Given the description of an element on the screen output the (x, y) to click on. 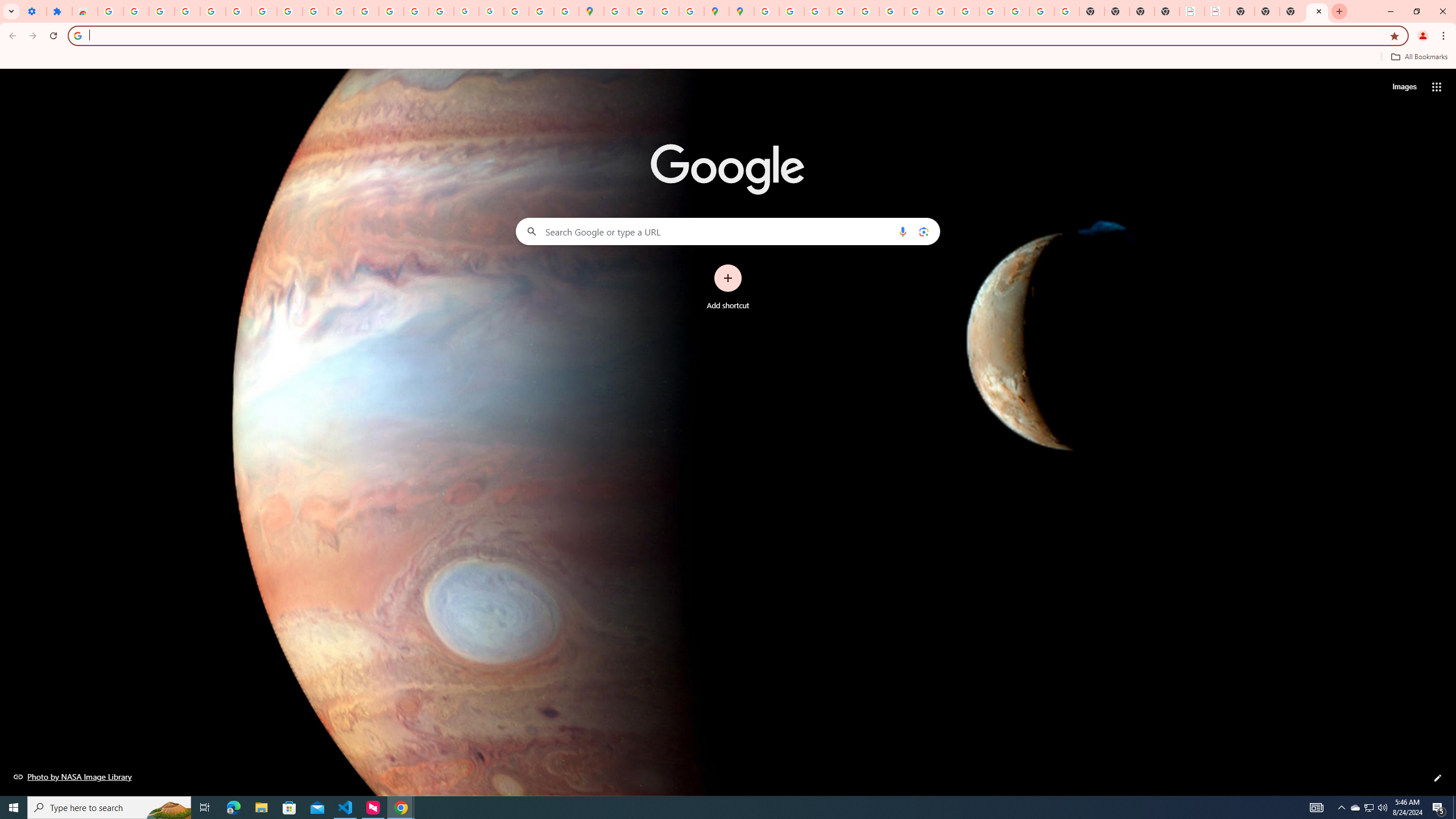
Add shortcut (727, 287)
Reviews: Helix Fruit Jump Arcade Game (84, 11)
Privacy Help Center - Policies Help (816, 11)
